Given the description of an element on the screen output the (x, y) to click on. 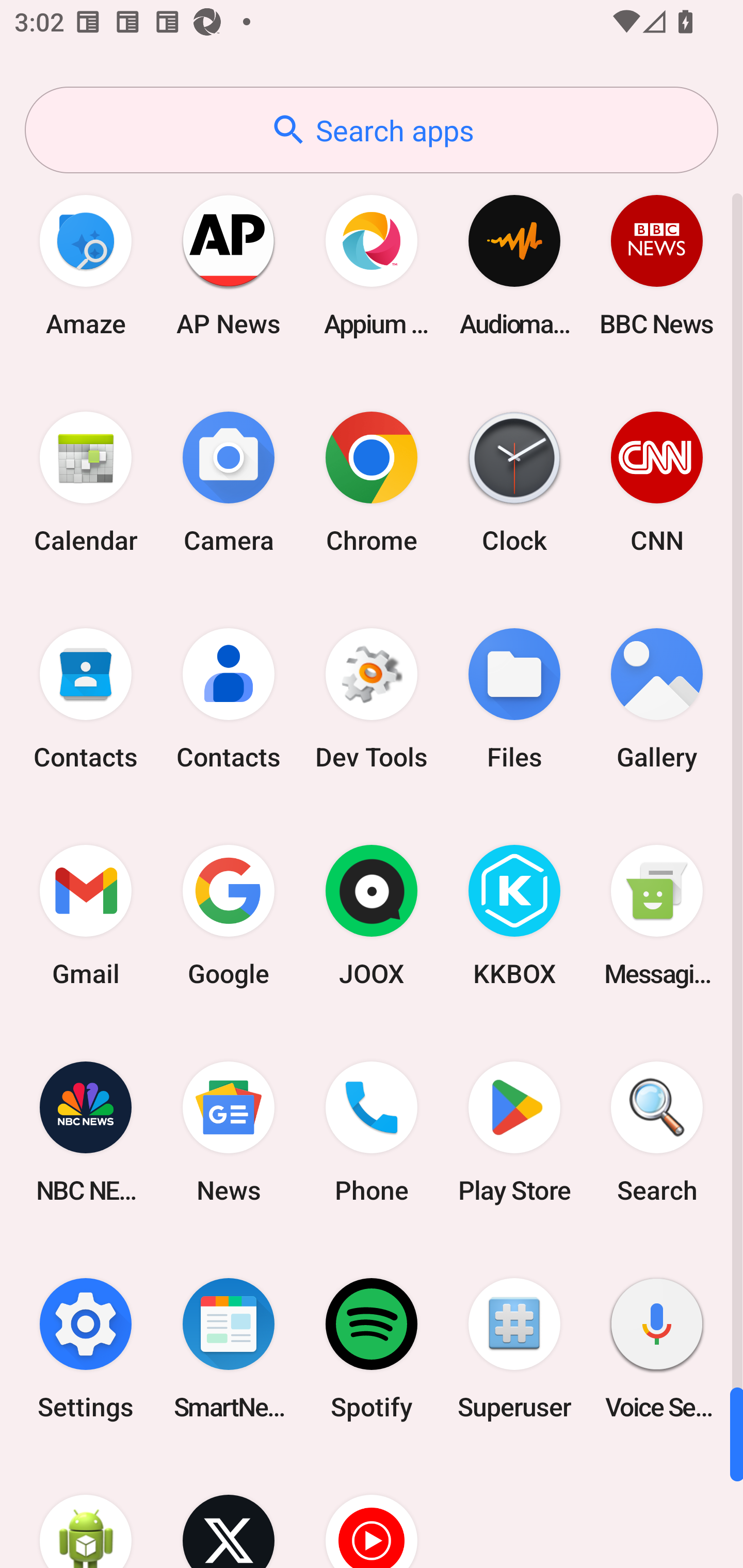
  Search apps (371, 130)
Amaze (85, 264)
AP News (228, 264)
Appium Settings (371, 264)
Audio­mack (514, 264)
BBC News (656, 264)
Calendar (85, 482)
Camera (228, 482)
Chrome (371, 482)
Clock (514, 482)
CNN (656, 482)
Contacts (85, 699)
Contacts (228, 699)
Dev Tools (371, 699)
Files (514, 699)
Gallery (656, 699)
Gmail (85, 915)
Google (228, 915)
JOOX (371, 915)
KKBOX (514, 915)
Messaging (656, 915)
NBC NEWS (85, 1131)
News (228, 1131)
Phone (371, 1131)
Play Store (514, 1131)
Search (656, 1131)
Settings (85, 1348)
SmartNews (228, 1348)
Spotify (371, 1348)
Superuser (514, 1348)
Voice Search (656, 1348)
WebView Browser Tester (85, 1512)
X (228, 1512)
YT Music (371, 1512)
